Given the description of an element on the screen output the (x, y) to click on. 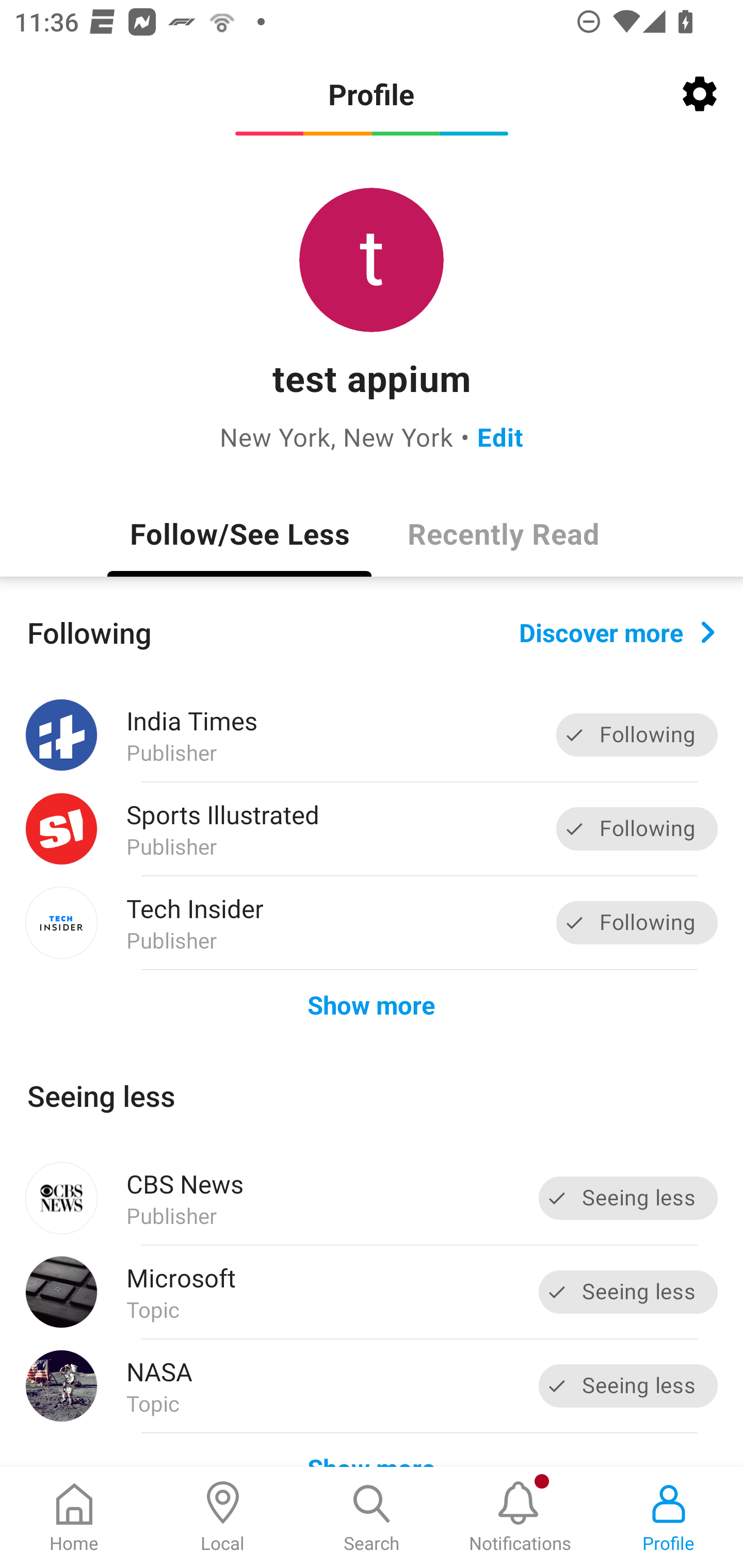
Settings (699, 93)
Edit (500, 436)
Recently Read (503, 533)
Discover more (617, 631)
India Times Publisher Following (371, 735)
Following (636, 735)
Sports Illustrated Publisher Following (371, 829)
Following (636, 828)
Tech Insider Publisher Following (371, 922)
Following (636, 922)
Show more (371, 1004)
CBS News Publisher Seeing less (371, 1197)
Seeing less (627, 1197)
Microsoft Topic Seeing less (371, 1291)
Seeing less (627, 1291)
NASA Topic Seeing less (371, 1386)
Seeing less (627, 1386)
Home (74, 1517)
Local (222, 1517)
Search (371, 1517)
Notifications, New notification Notifications (519, 1517)
